Given the description of an element on the screen output the (x, y) to click on. 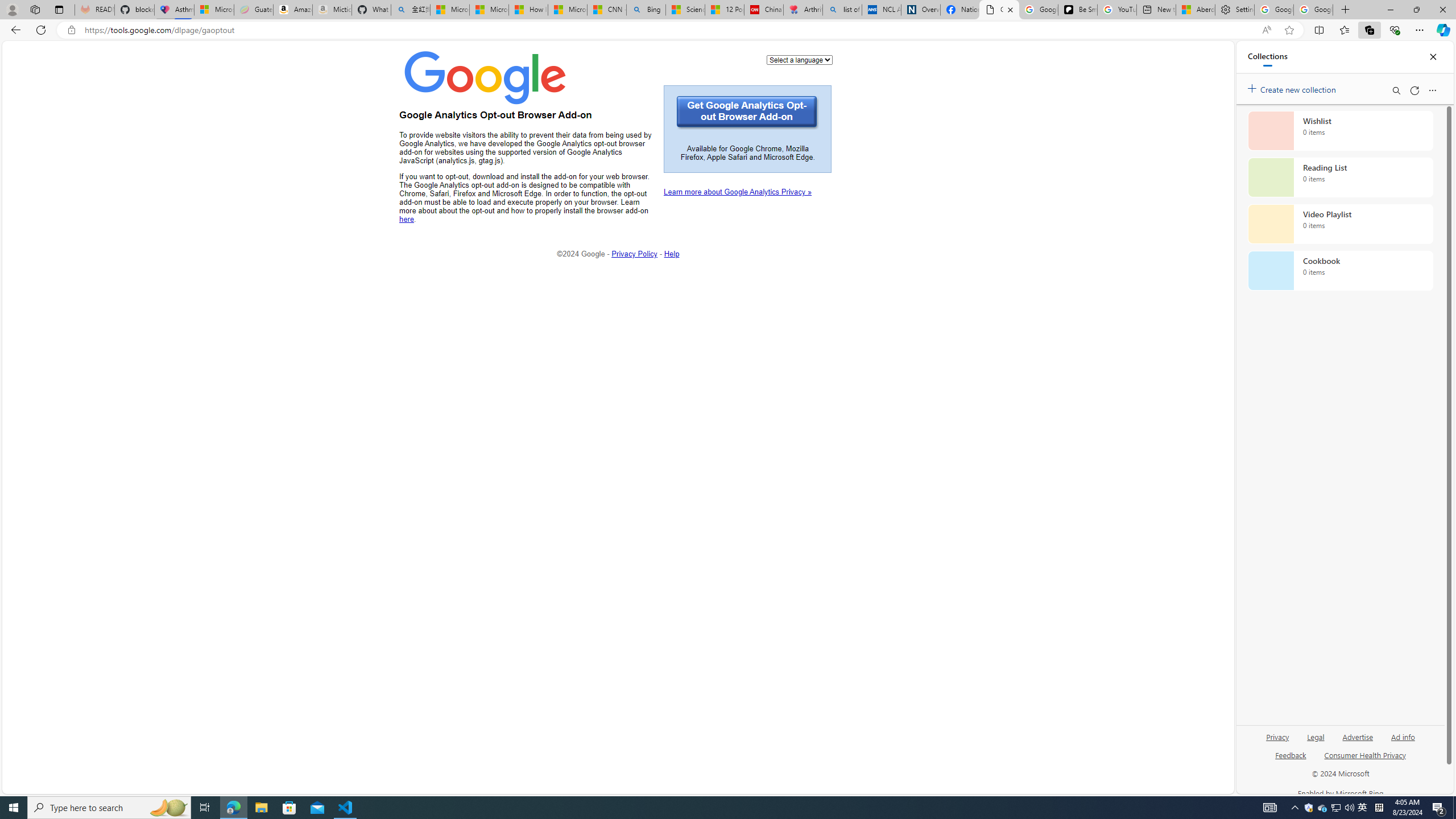
Advertise (1358, 741)
NCL Adult Asthma Inhaler Choice Guideline (881, 9)
Be Smart | creating Science videos | Patreon (1077, 9)
Create new collection (1293, 87)
Bing (646, 9)
